Given the description of an element on the screen output the (x, y) to click on. 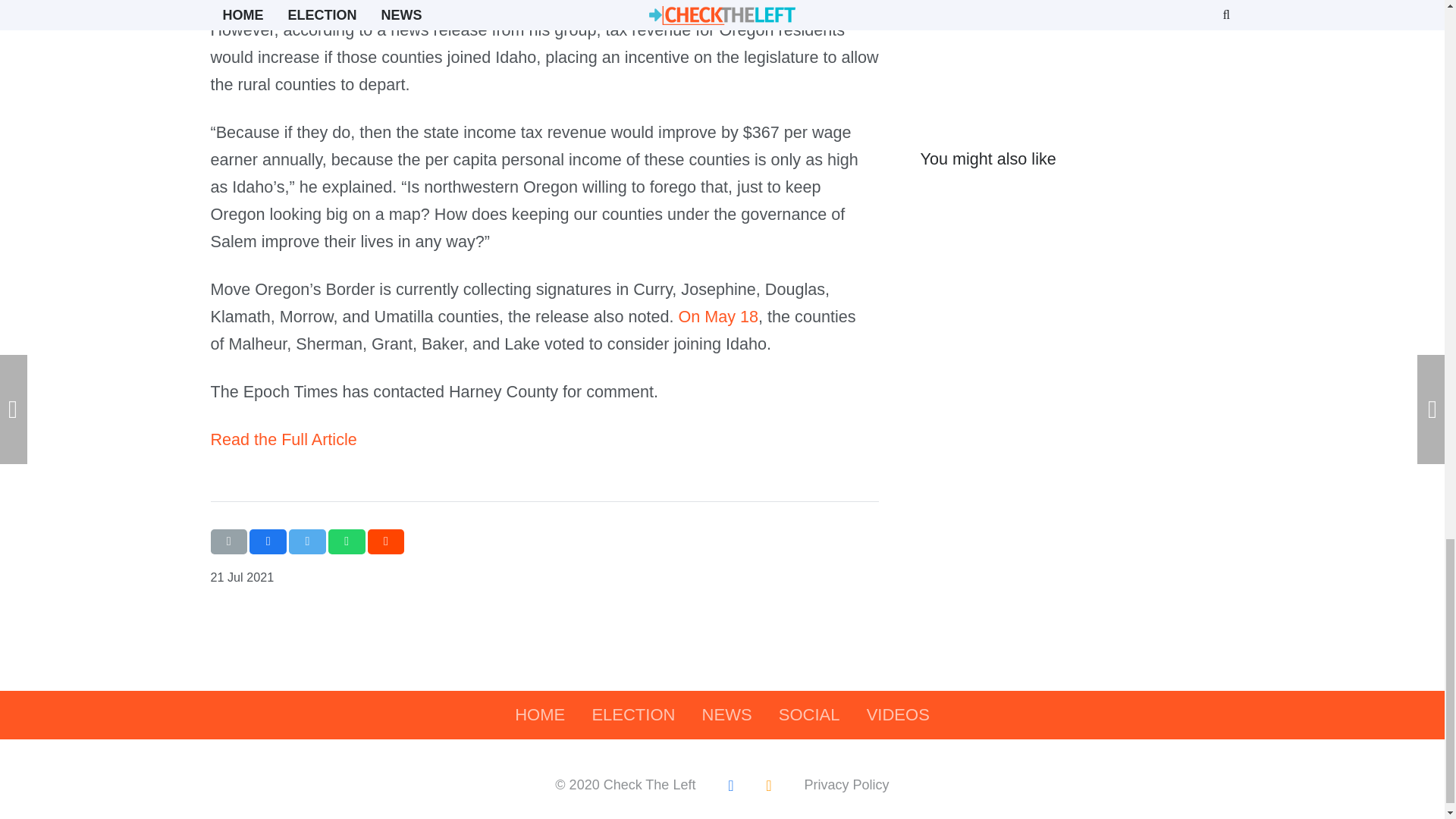
Facebook (730, 785)
On May 18 (718, 316)
Read the Full Article (283, 438)
Privacy Policy (847, 784)
Tweet this (307, 541)
HOME (540, 715)
Share this (347, 541)
Email this (229, 541)
ELECTION (633, 715)
NEWS (726, 715)
